Given the description of an element on the screen output the (x, y) to click on. 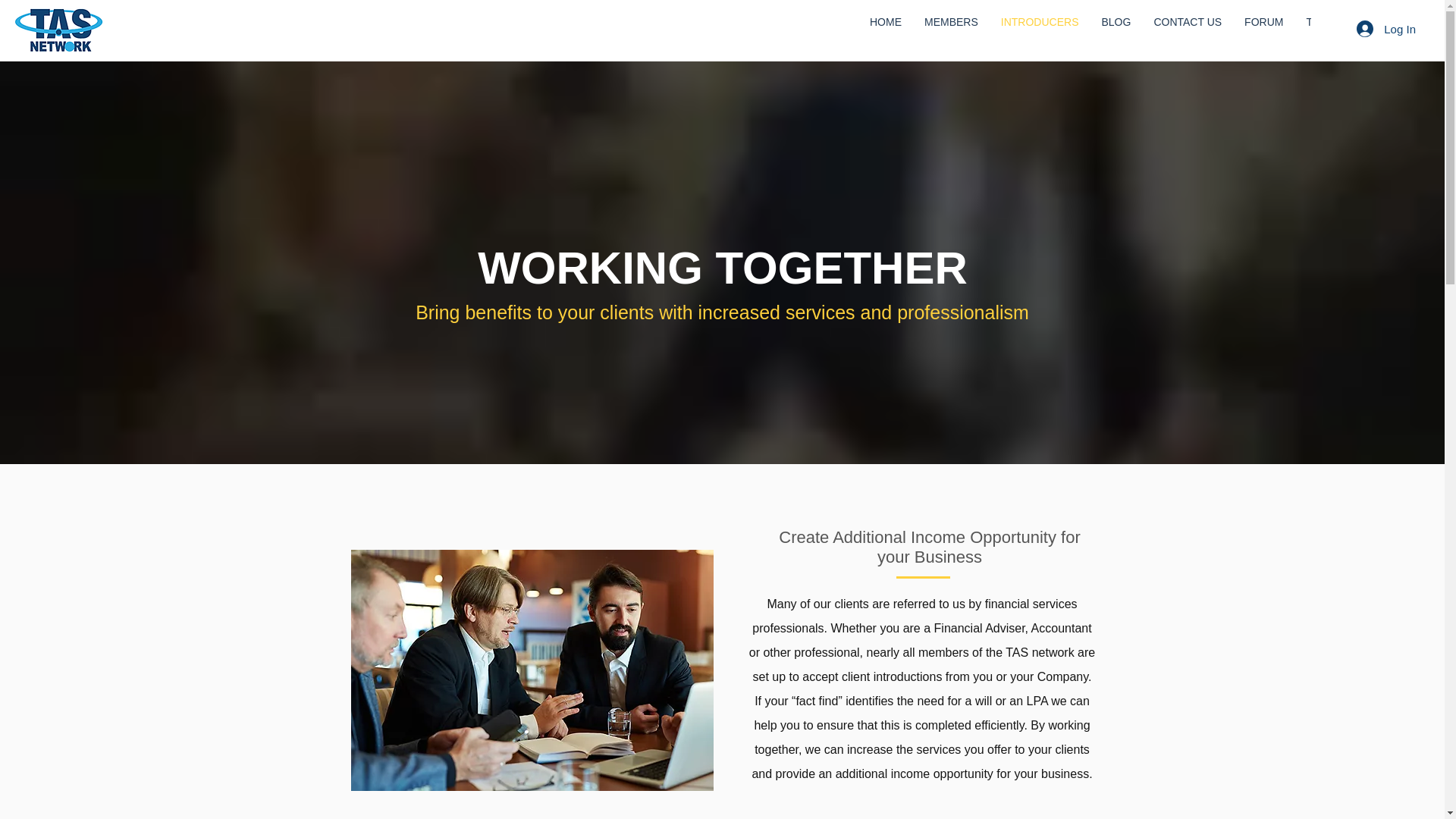
INTRODUCERS (1040, 30)
FORUM (1263, 30)
TAS DOCS (1332, 30)
introducing-clients.jpg (531, 670)
BLOG (1115, 30)
tas-logo-h80.png (59, 29)
Log In (1385, 28)
HOME (885, 30)
CONTACT US (1187, 30)
